Given the description of an element on the screen output the (x, y) to click on. 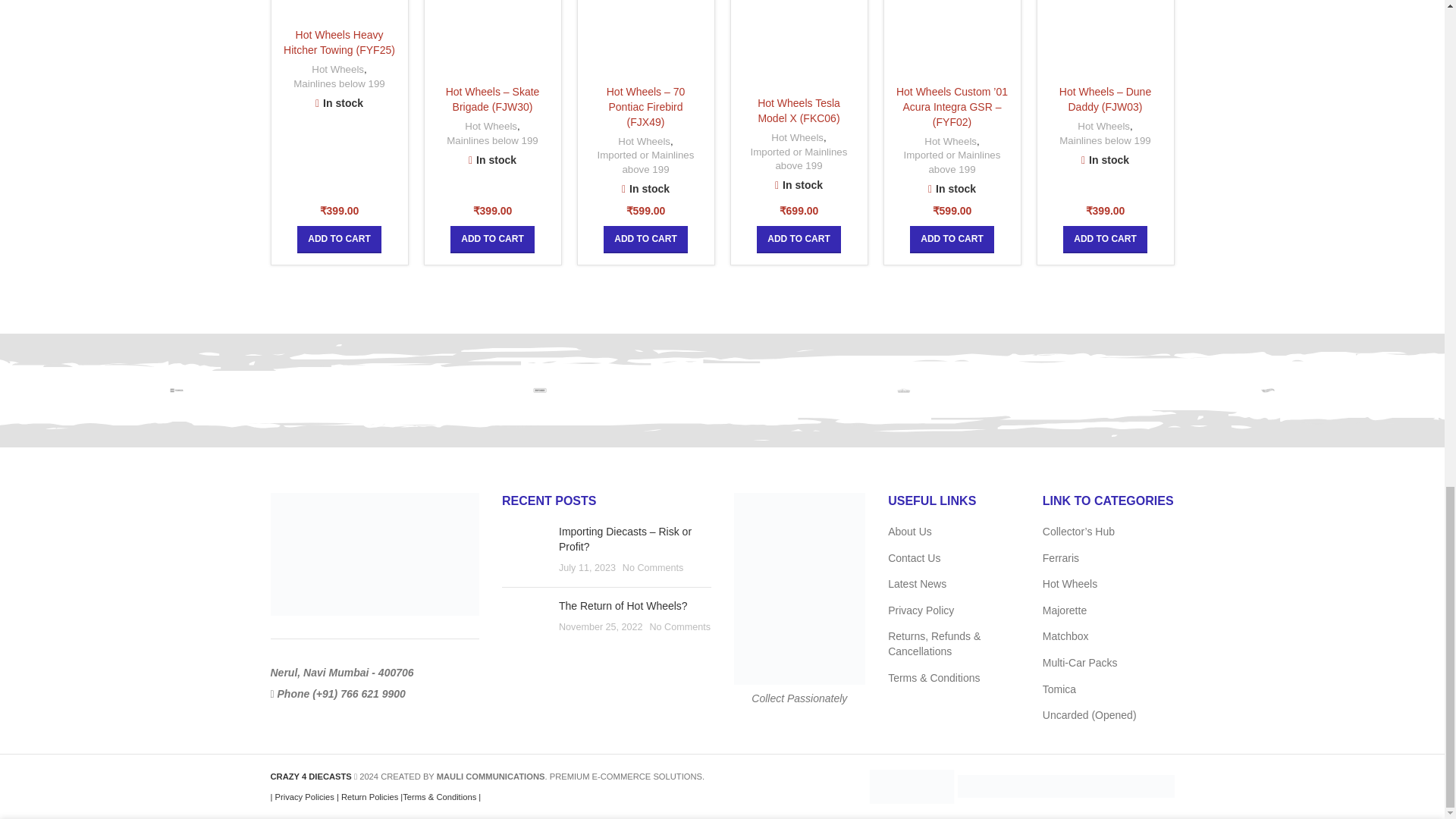
Matchbox (540, 390)
Permalink to The Return of Hot Wheels? (623, 605)
Majorette (904, 390)
Tomica (179, 390)
Hot Wheels (1268, 390)
